Given the description of an element on the screen output the (x, y) to click on. 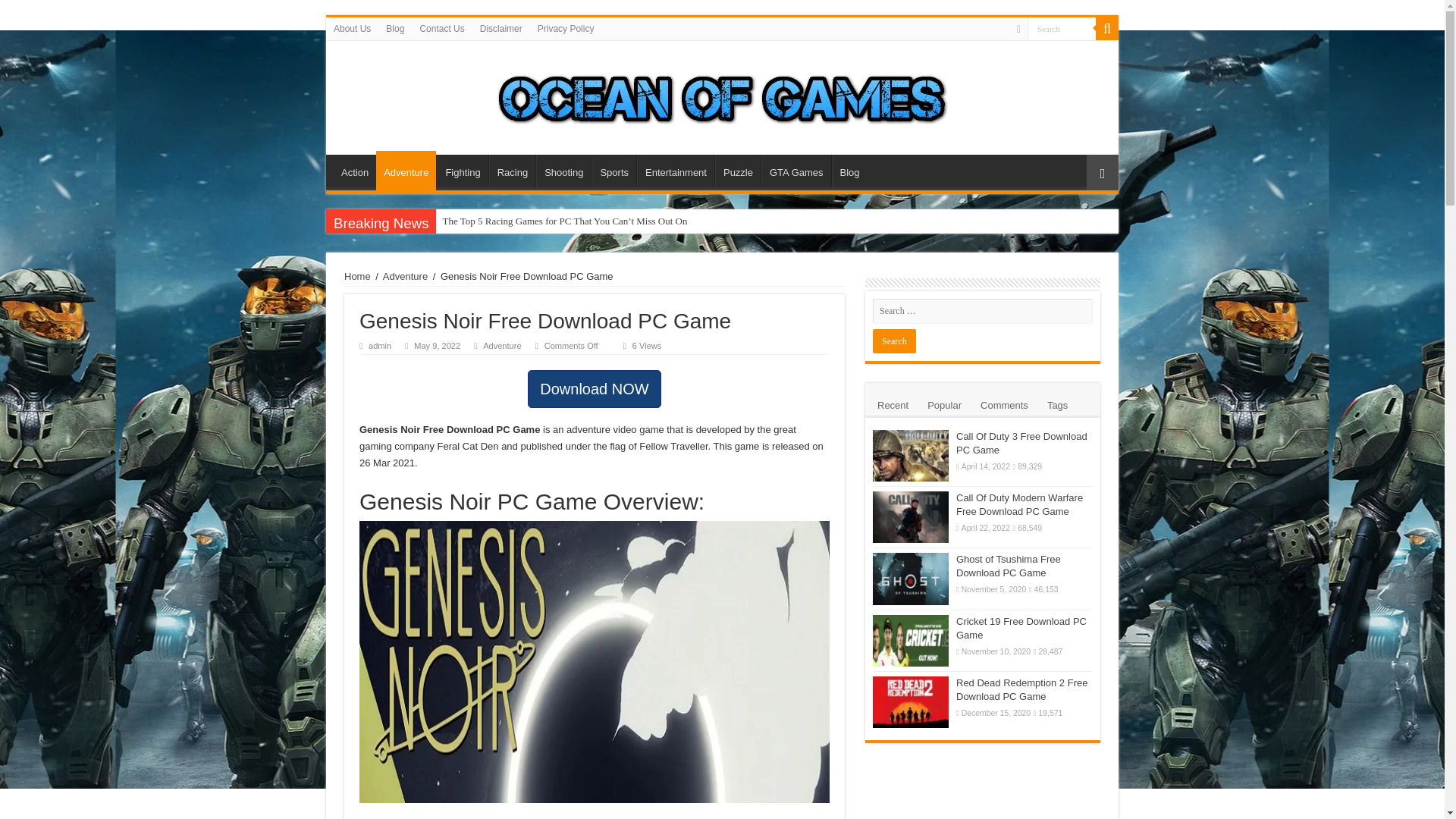
admin (379, 345)
Search (1061, 28)
GTA Games (796, 170)
Puzzle (737, 170)
Disclaimer (500, 28)
Fighting (461, 170)
Adventure (502, 345)
Search (893, 340)
Shooting (563, 170)
Blog (395, 28)
